Given the description of an element on the screen output the (x, y) to click on. 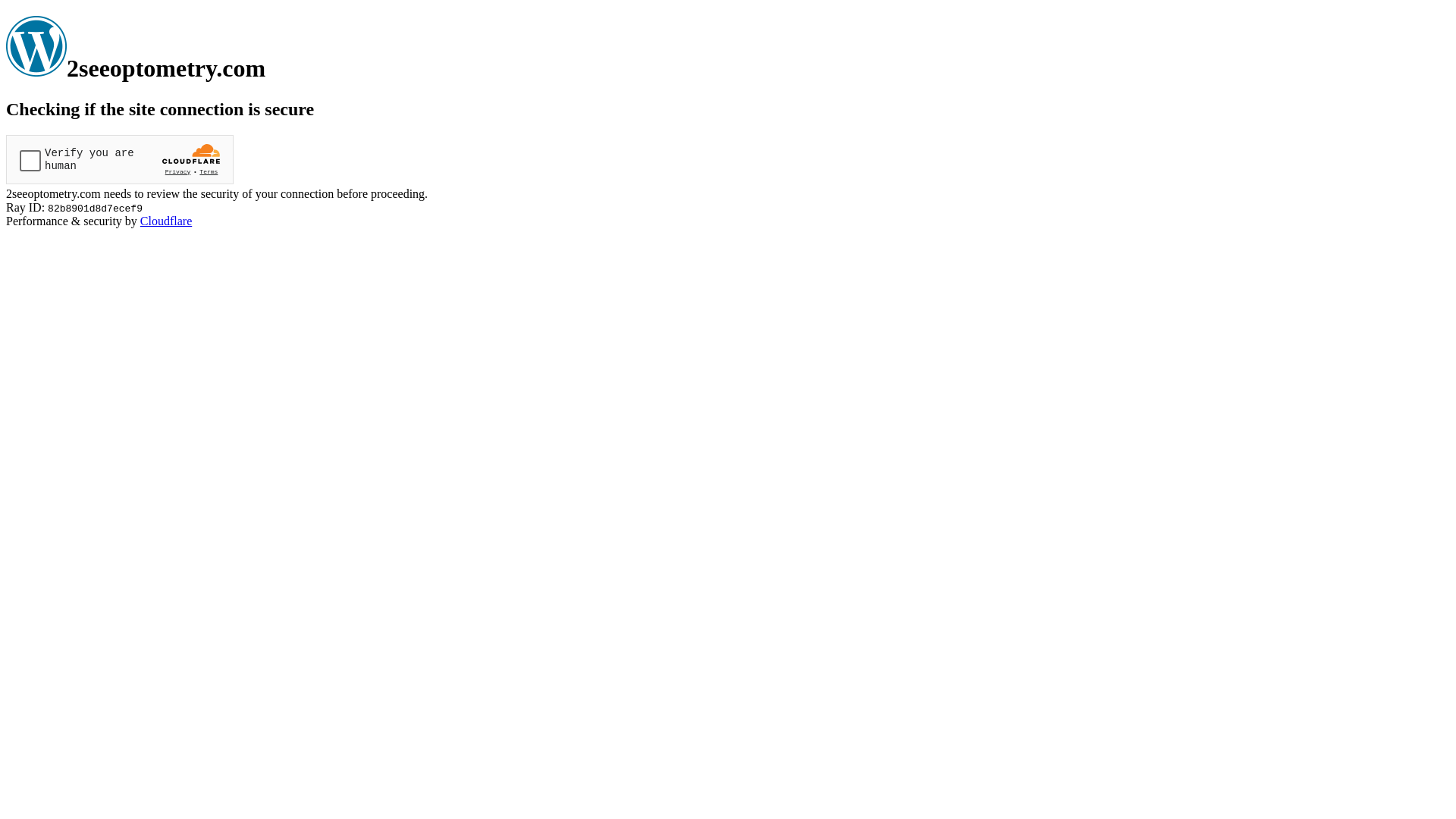
Widget containing a Cloudflare security challenge Element type: hover (119, 159)
Cloudflare Element type: text (165, 220)
